Given the description of an element on the screen output the (x, y) to click on. 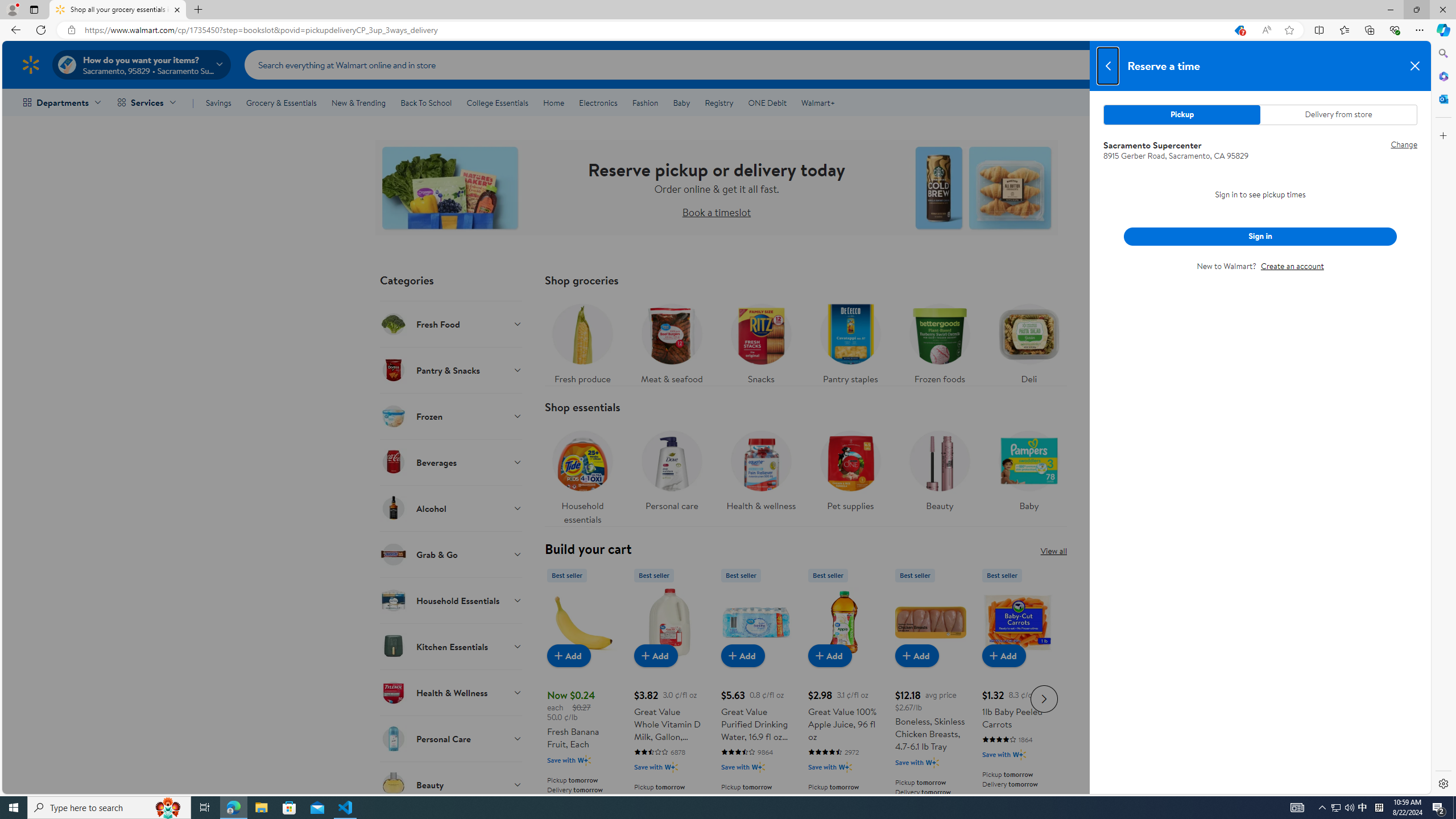
ONE Debit (767, 102)
Baby (1028, 467)
Sign In Account (1347, 64)
Electronics (598, 102)
Registry (718, 102)
Beauty (938, 473)
Alcohol (451, 507)
Frozen foods (938, 340)
back (1107, 65)
Walmart Plus (1018, 754)
Deli (1029, 340)
